Given the description of an element on the screen output the (x, y) to click on. 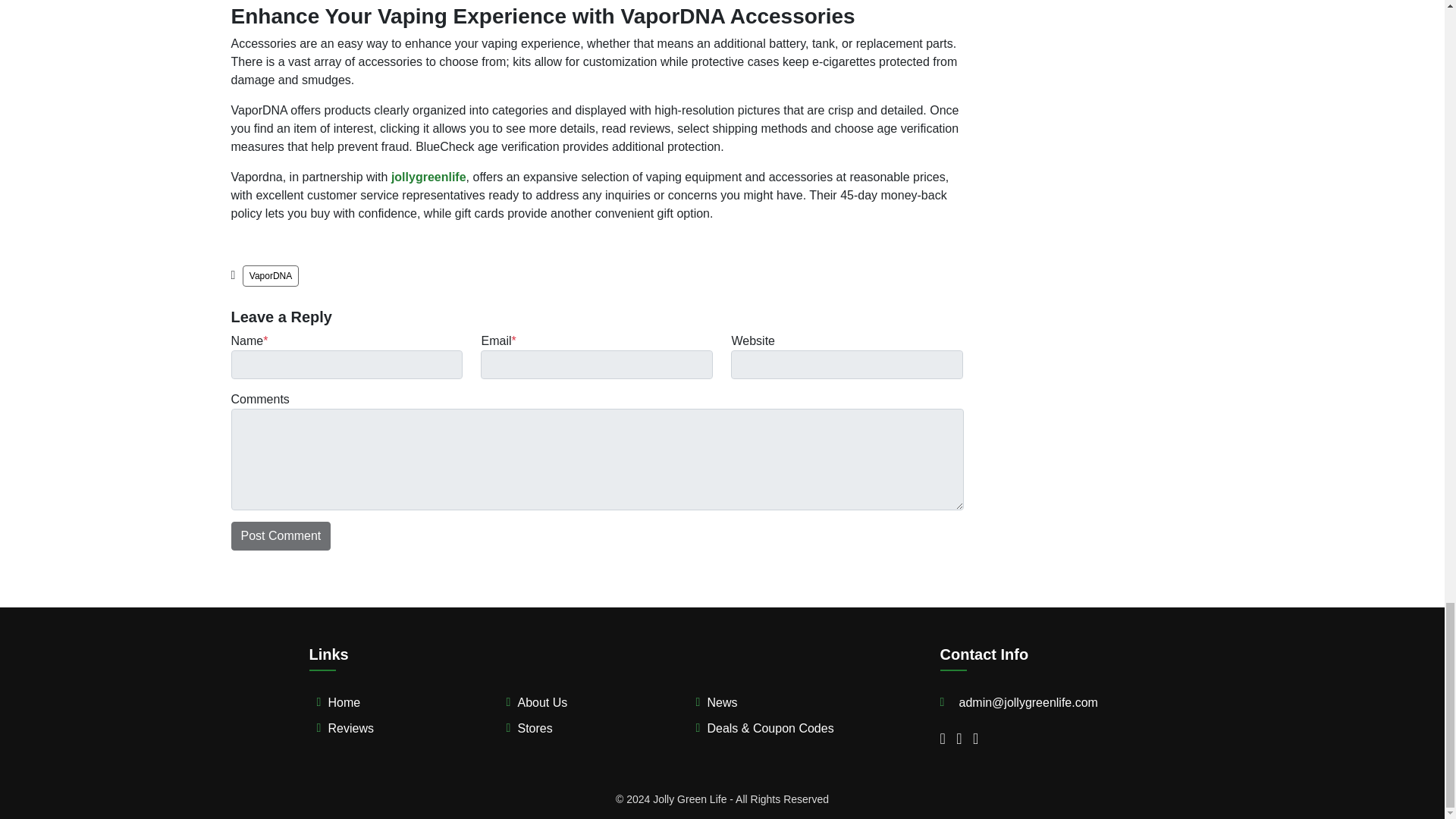
jollygreenlife (428, 176)
Reviews (349, 727)
About Us (541, 702)
Stores (533, 727)
Post Comment (280, 535)
Home (343, 702)
Post Comment (280, 535)
VaporDNA (270, 275)
News (721, 702)
